Given the description of an element on the screen output the (x, y) to click on. 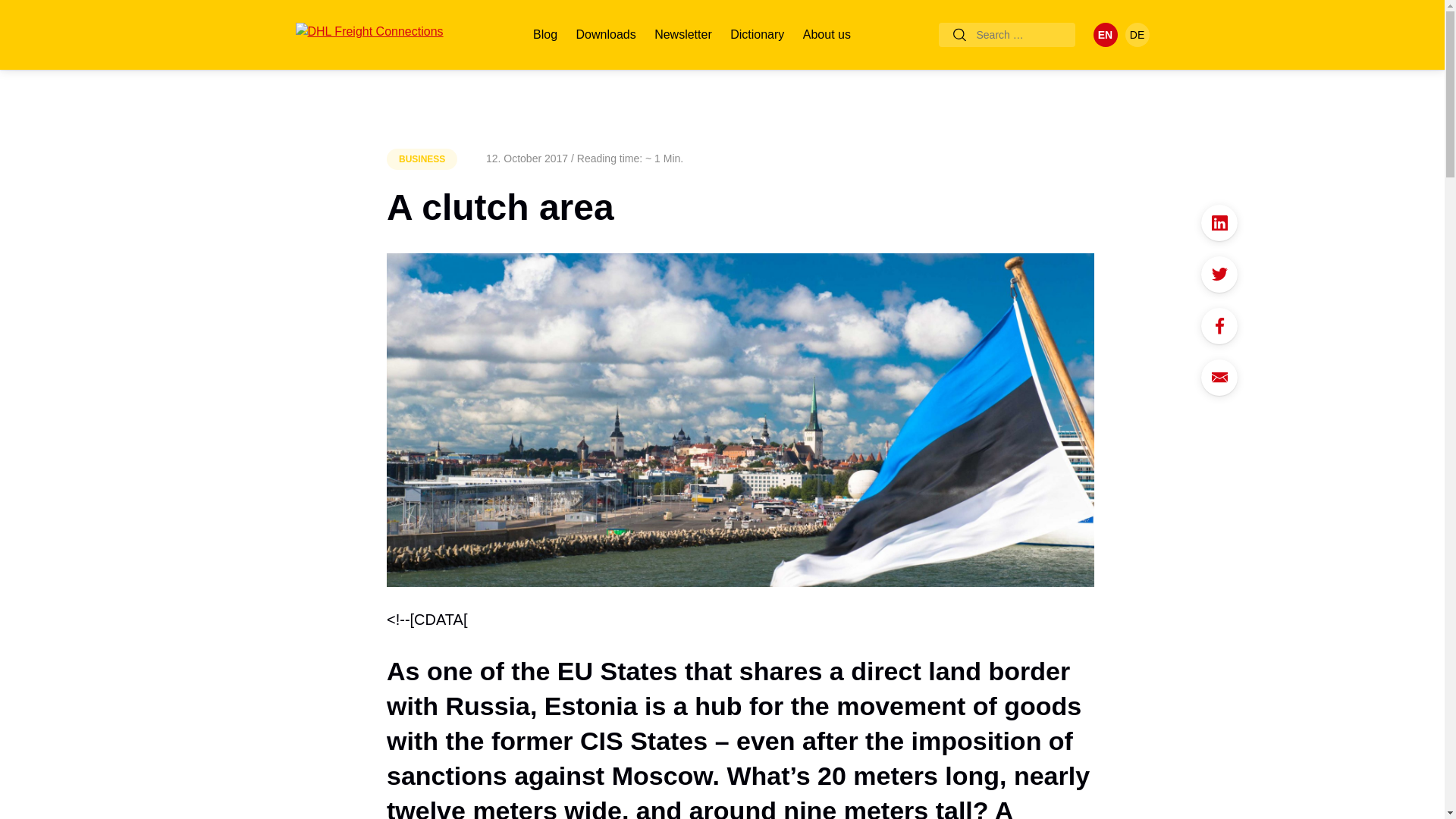
Downloads (606, 34)
About us (826, 34)
Dictionary (757, 34)
Blog (544, 34)
DE (1137, 34)
Newsletter (682, 34)
DE (1137, 34)
EN (1105, 34)
EN (1105, 34)
